Given the description of an element on the screen output the (x, y) to click on. 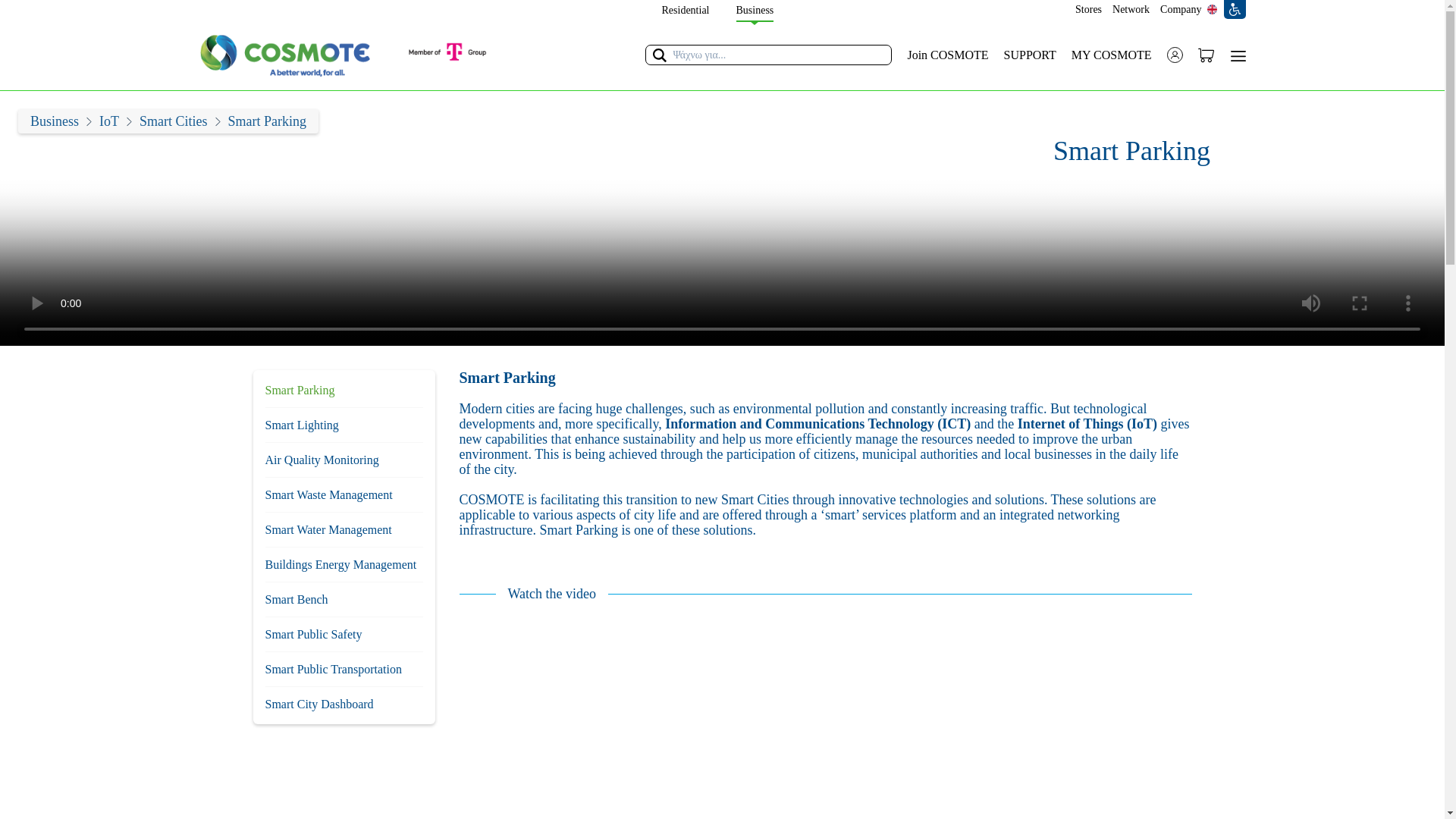
MY COSMOTE (1111, 54)
Residential (685, 8)
Network (1133, 9)
Company (1183, 9)
Stores (1090, 9)
SUPPORT (1030, 54)
Join COSMOTE (947, 54)
Business (754, 10)
